Given the description of an element on the screen output the (x, y) to click on. 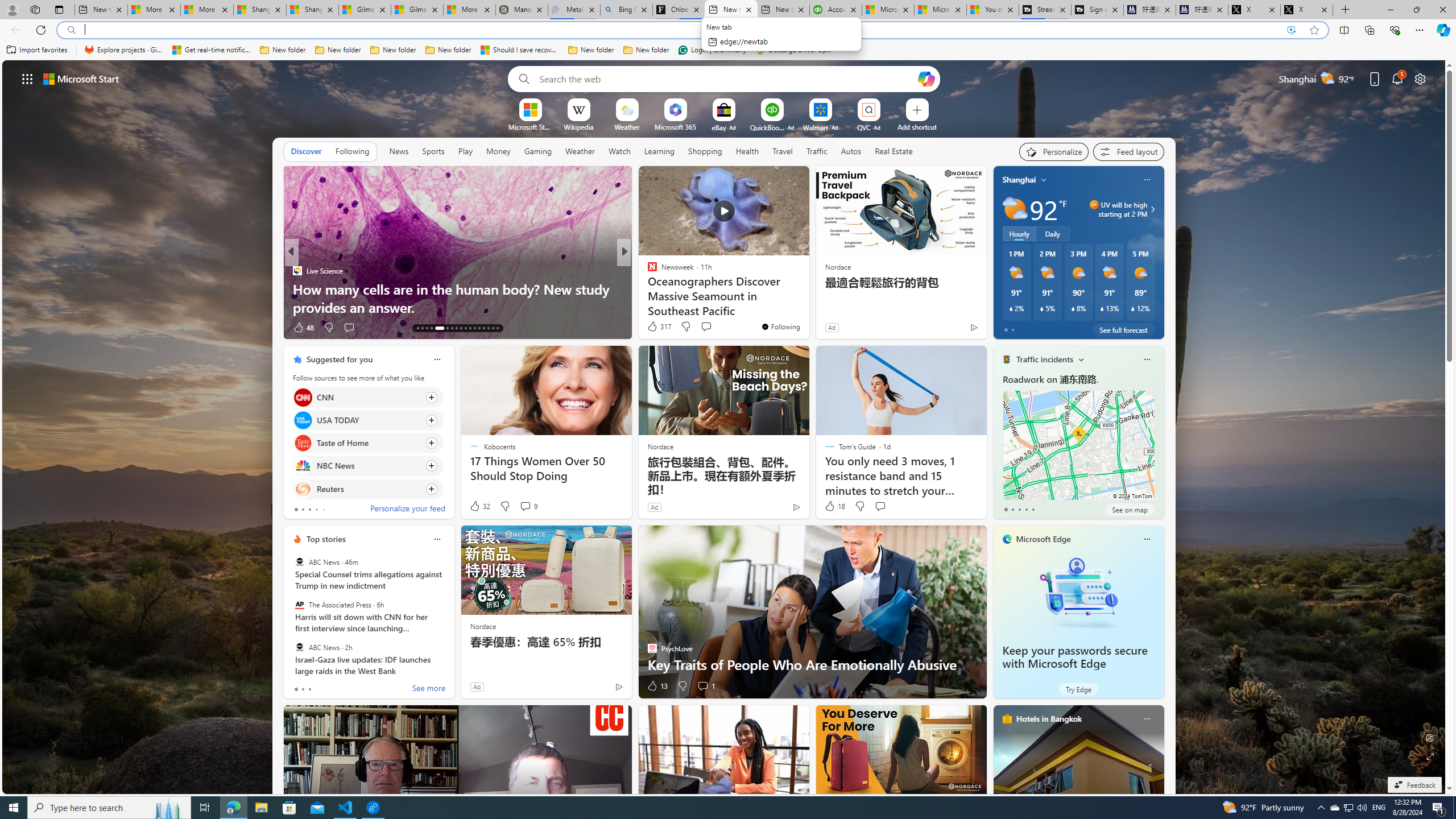
A Conscious Rethink (647, 270)
View comments 9 Comment (525, 505)
AutomationID: tab-22 (465, 328)
AutomationID: tab-25 (478, 328)
Microsoft Edge (1043, 538)
AutomationID: tab-39 (497, 328)
Watch (619, 151)
